Given the description of an element on the screen output the (x, y) to click on. 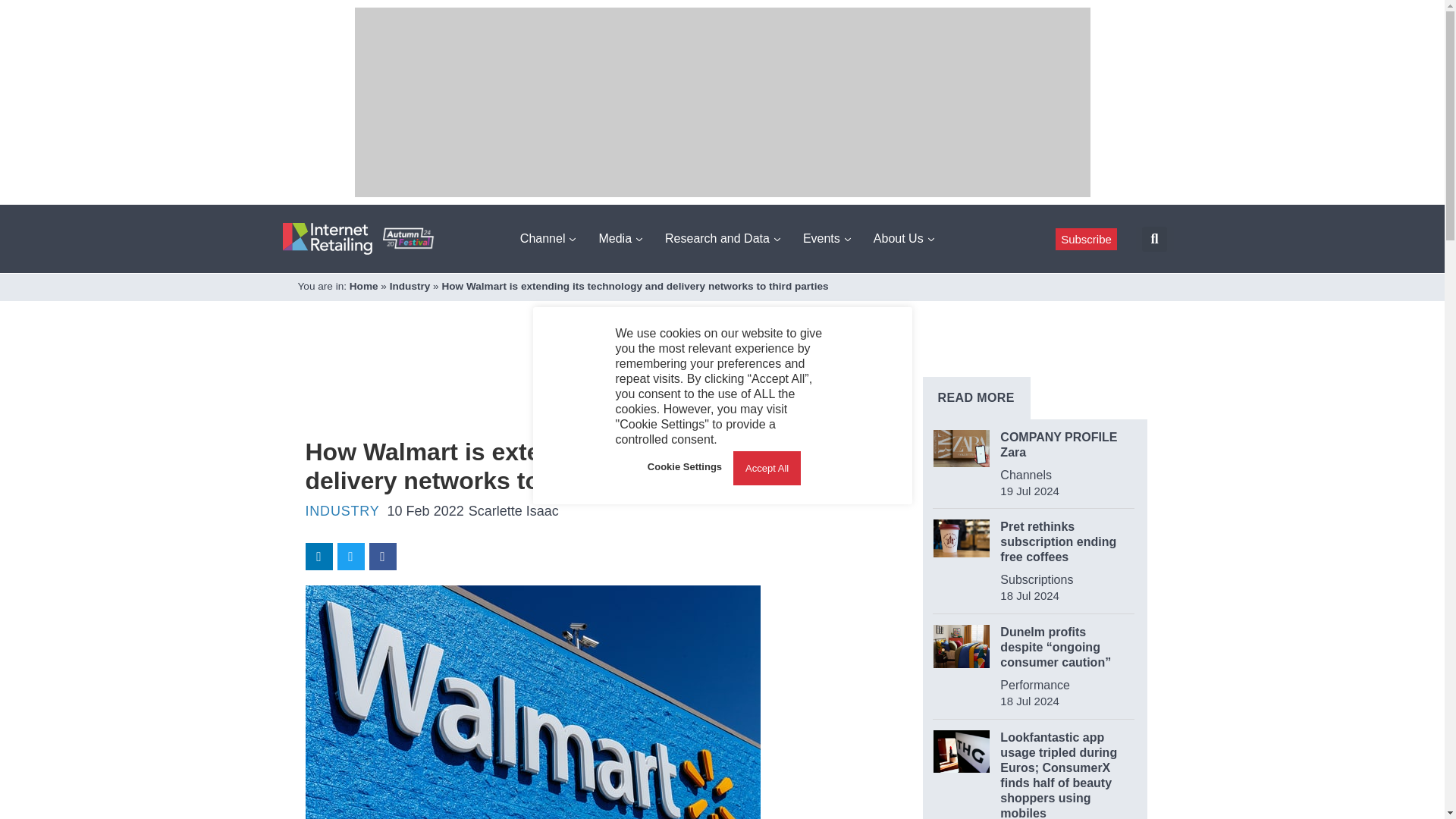
Channel (547, 238)
Media (620, 238)
3rd party ad content (580, 387)
Research and Data (722, 238)
